Given the description of an element on the screen output the (x, y) to click on. 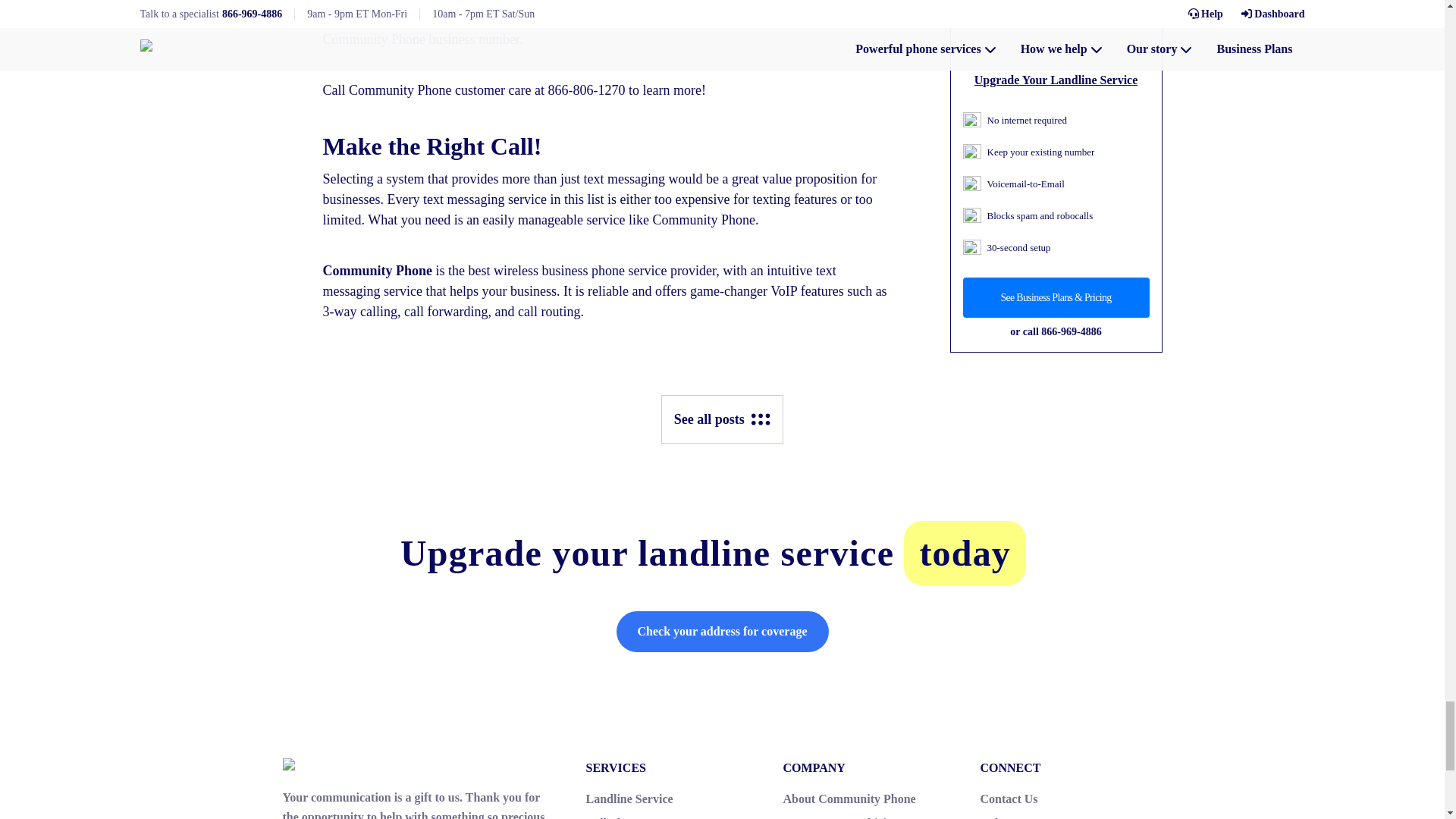
Check your address for coverage (721, 630)
See all posts (722, 418)
Landline Service (628, 798)
Cell Plans (611, 817)
Careers - We're hiring! (842, 817)
About Community Phone (849, 798)
Help (991, 817)
Contact Us (1007, 798)
